Given the description of an element on the screen output the (x, y) to click on. 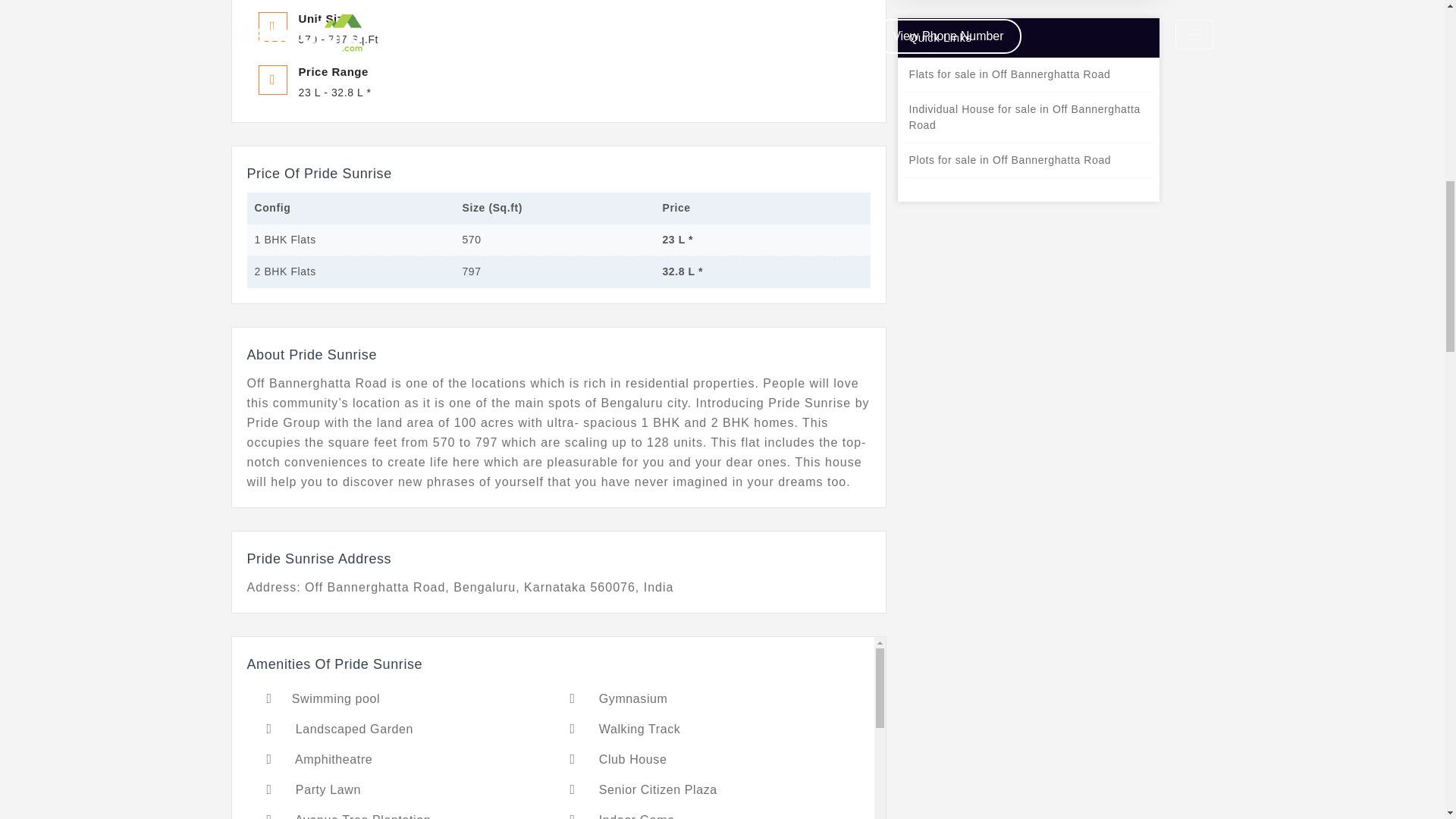
Individual House for sale in Off Bannerghatta Road (1028, 117)
Flats for sale in Off Bannerghatta Road (1028, 74)
Flats for sale in Off Bannerghatta Road (1028, 74)
Plots for sale in Off Bannerghatta Road (1028, 160)
